Given the description of an element on the screen output the (x, y) to click on. 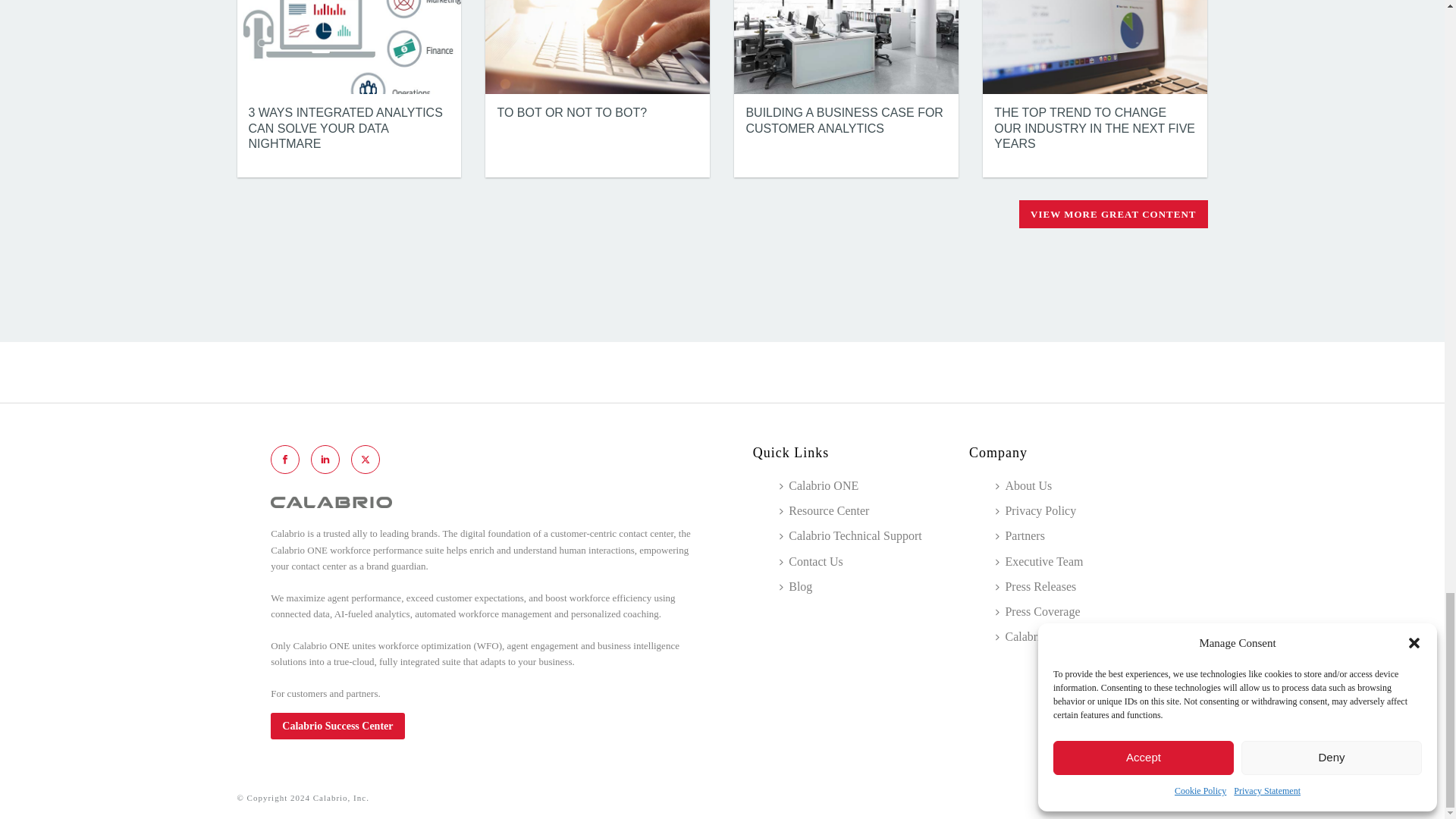
Follow Us on linkedin (325, 459)
Follow Us on facebook (284, 459)
Follow Us on twitter (365, 459)
